Given the description of an element on the screen output the (x, y) to click on. 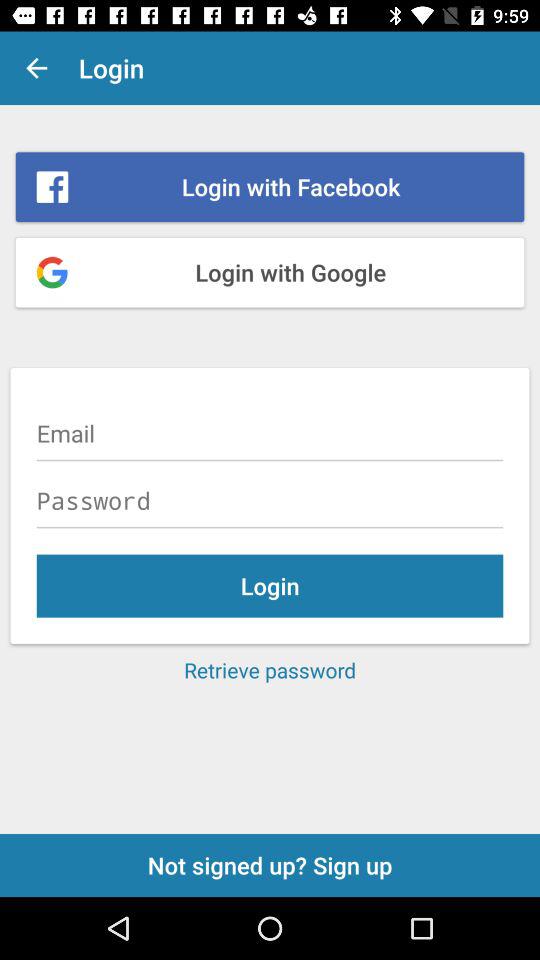
launch icon above login with facebook icon (36, 68)
